Given the description of an element on the screen output the (x, y) to click on. 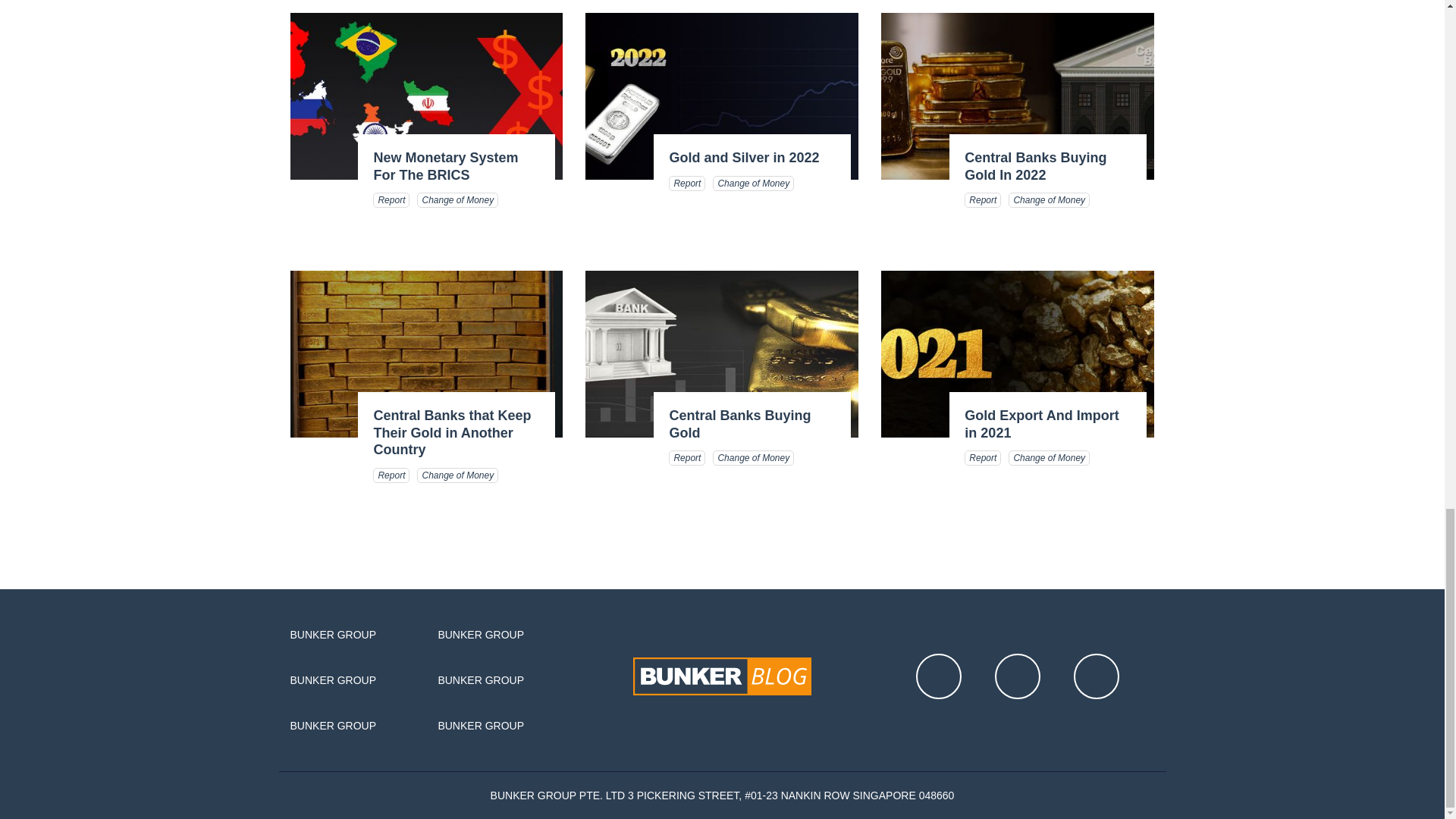
Change of Money (1049, 200)
Gold Export And Import in 2021 (1040, 423)
Change of Money (753, 458)
Gold and Silver in 2022 (743, 157)
Report (390, 474)
Central Banks Buying Gold (739, 423)
Change of Money (456, 474)
Report (686, 183)
Bunker Blog (721, 676)
Central Banks Buying Gold In 2022 (1034, 165)
Change of Money (456, 200)
New Monetary System For The BRICS (445, 165)
Report (982, 200)
Report (982, 458)
Report (686, 458)
